Given the description of an element on the screen output the (x, y) to click on. 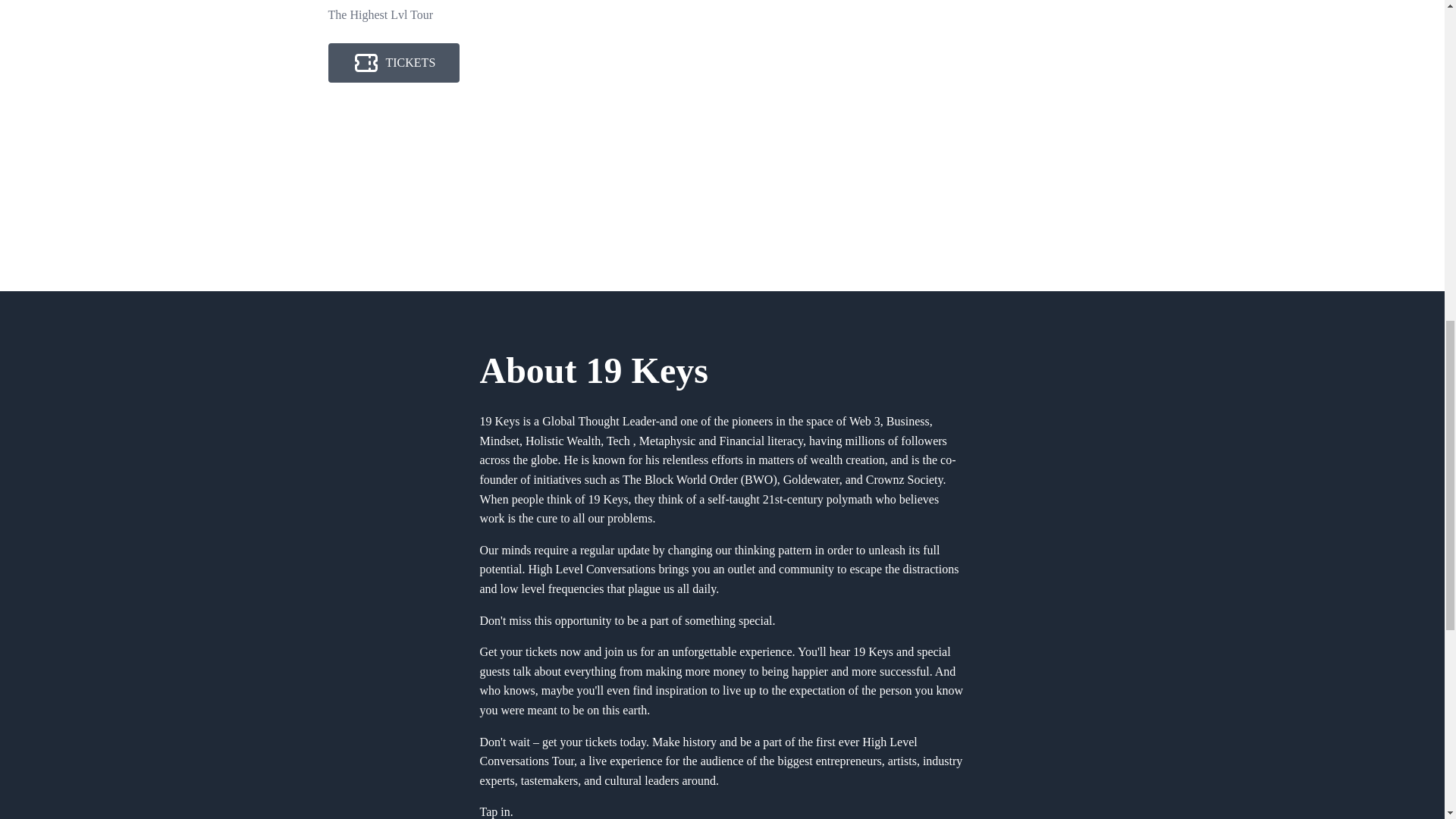
TICKETS (393, 62)
